Given the description of an element on the screen output the (x, y) to click on. 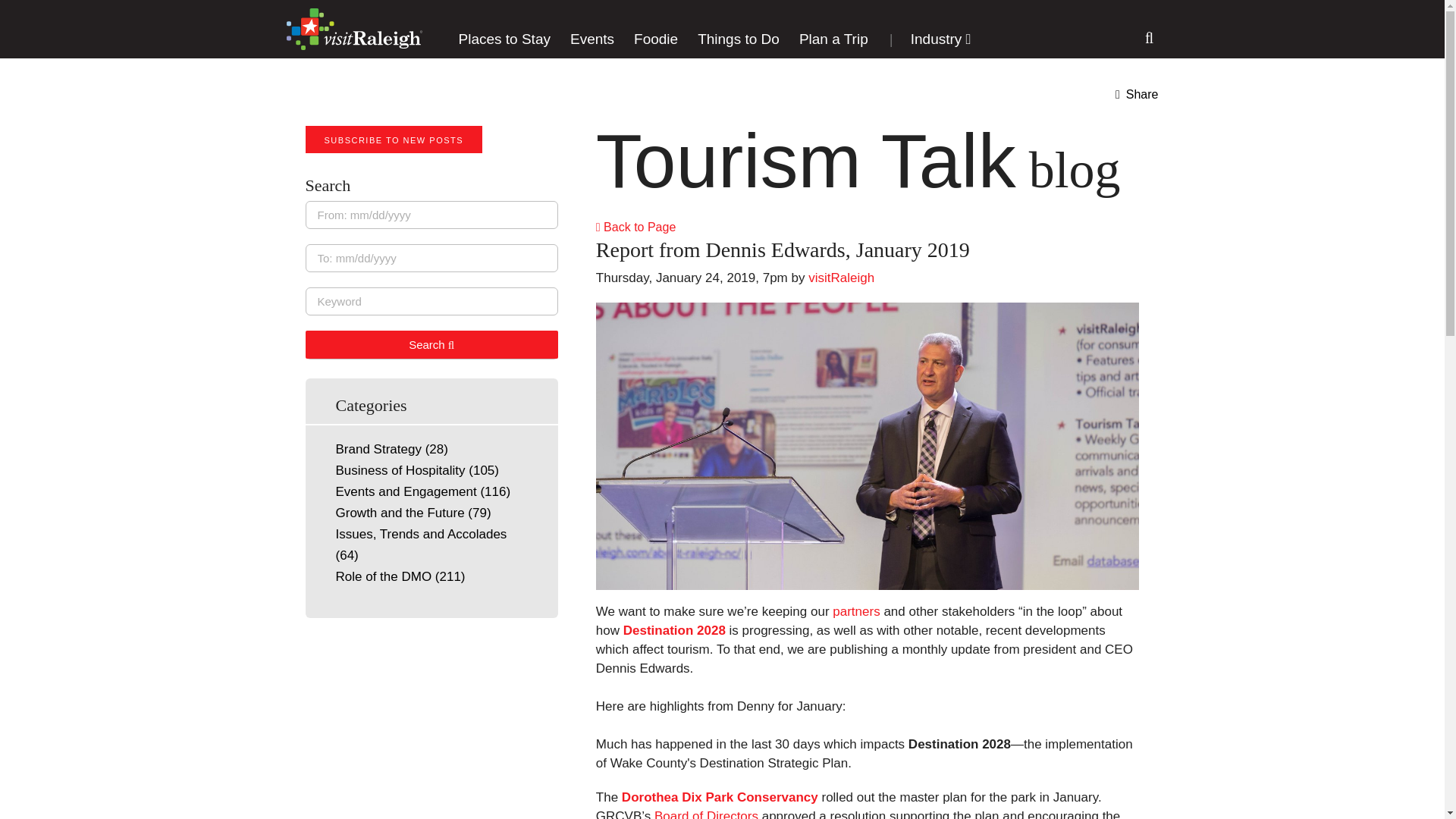
Places to Stay (504, 39)
Events (592, 39)
Places to Stay (504, 39)
Events (592, 39)
Foodie (655, 39)
